Given the description of an element on the screen output the (x, y) to click on. 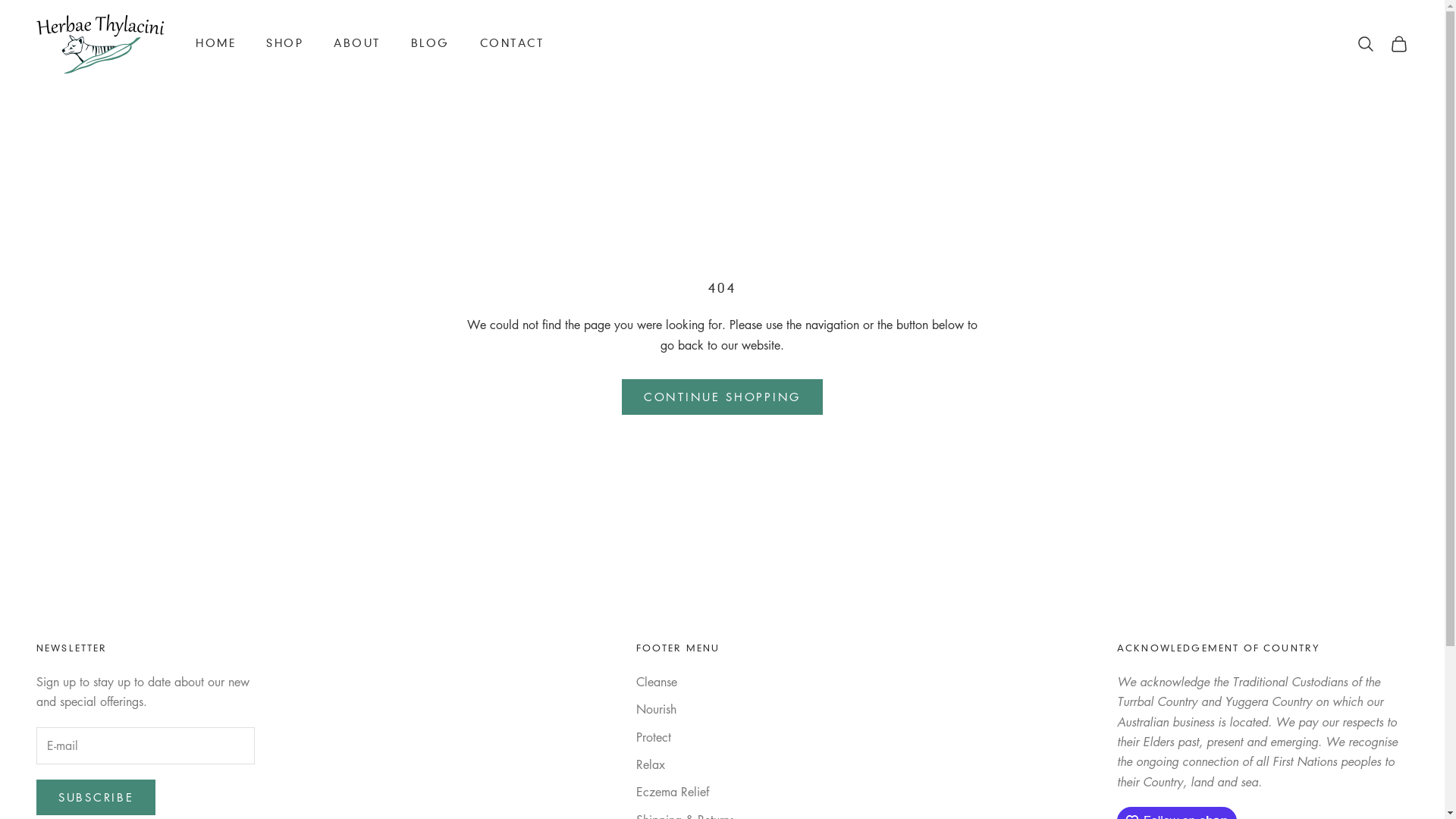
Eczema Relief Element type: text (671, 791)
Protect Element type: text (652, 736)
CONTACT Element type: text (512, 43)
HOME Element type: text (215, 43)
Relax Element type: text (649, 764)
CONTINUE SHOPPING Element type: text (721, 397)
Open cart Element type: text (1399, 43)
Nourish Element type: text (655, 708)
BLOG Element type: text (430, 43)
Cleanse Element type: text (655, 681)
SUBSCRIBE Element type: text (95, 797)
Open search Element type: text (1365, 43)
Herbae Thylacini Element type: text (100, 43)
